Given the description of an element on the screen output the (x, y) to click on. 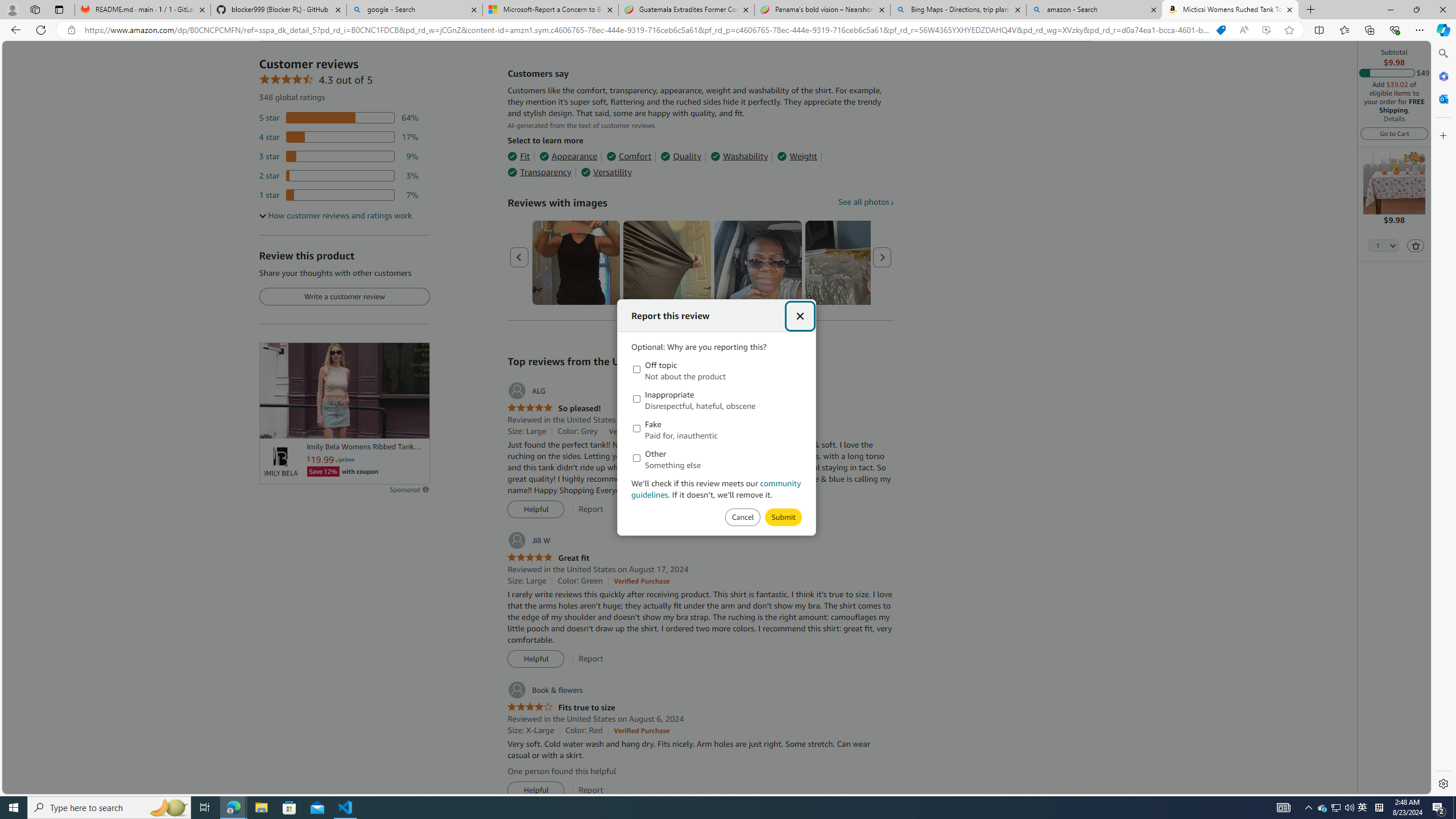
Sponsored ad (344, 390)
See all photos (865, 201)
Shopping in Microsoft Edge (1220, 29)
Submit (742, 517)
ALG (526, 390)
Helpful (536, 790)
google - Search (414, 9)
community guidelines (715, 488)
